Given the description of an element on the screen output the (x, y) to click on. 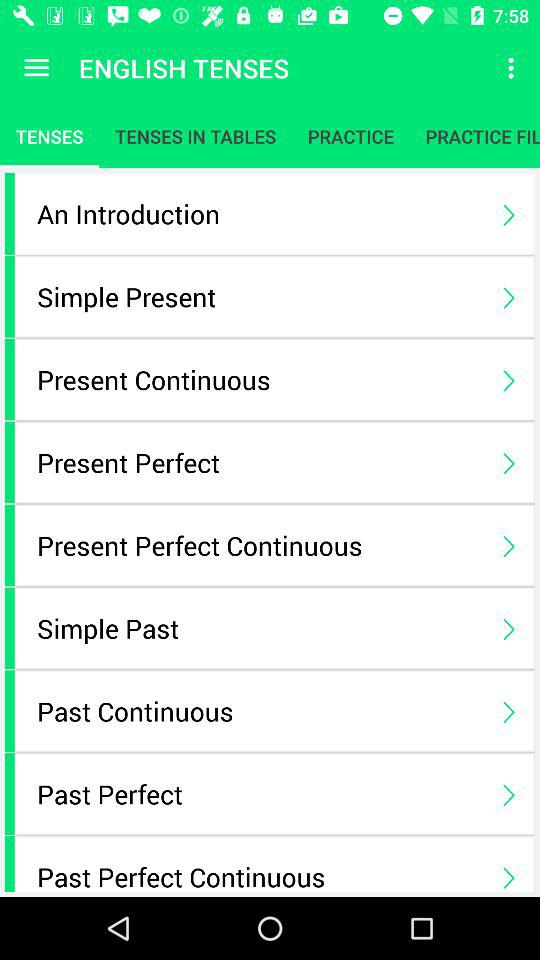
tap the item above the practice fill up (513, 67)
